Given the description of an element on the screen output the (x, y) to click on. 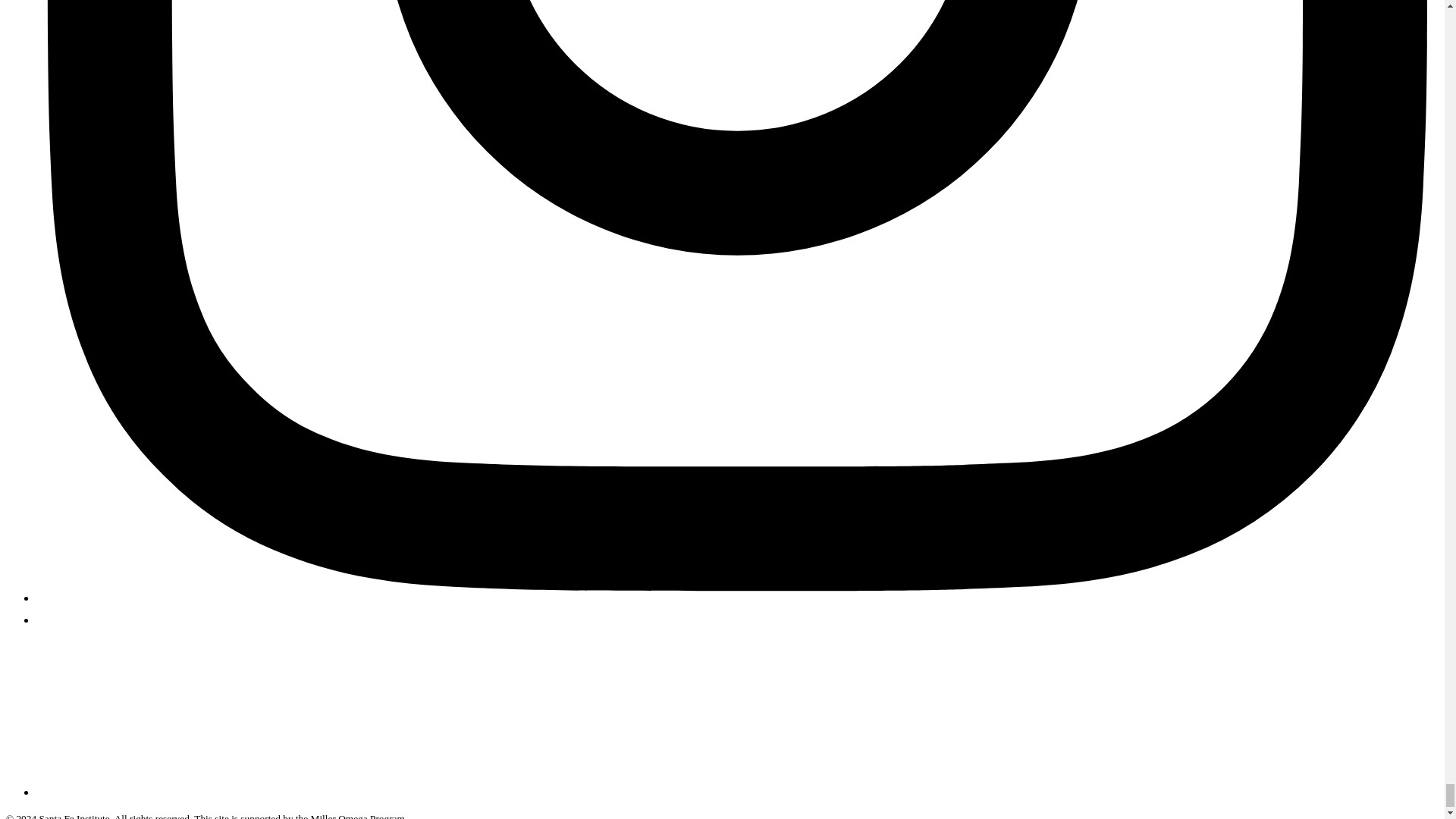
contact (120, 791)
linkedin (45, 619)
